Given the description of an element on the screen output the (x, y) to click on. 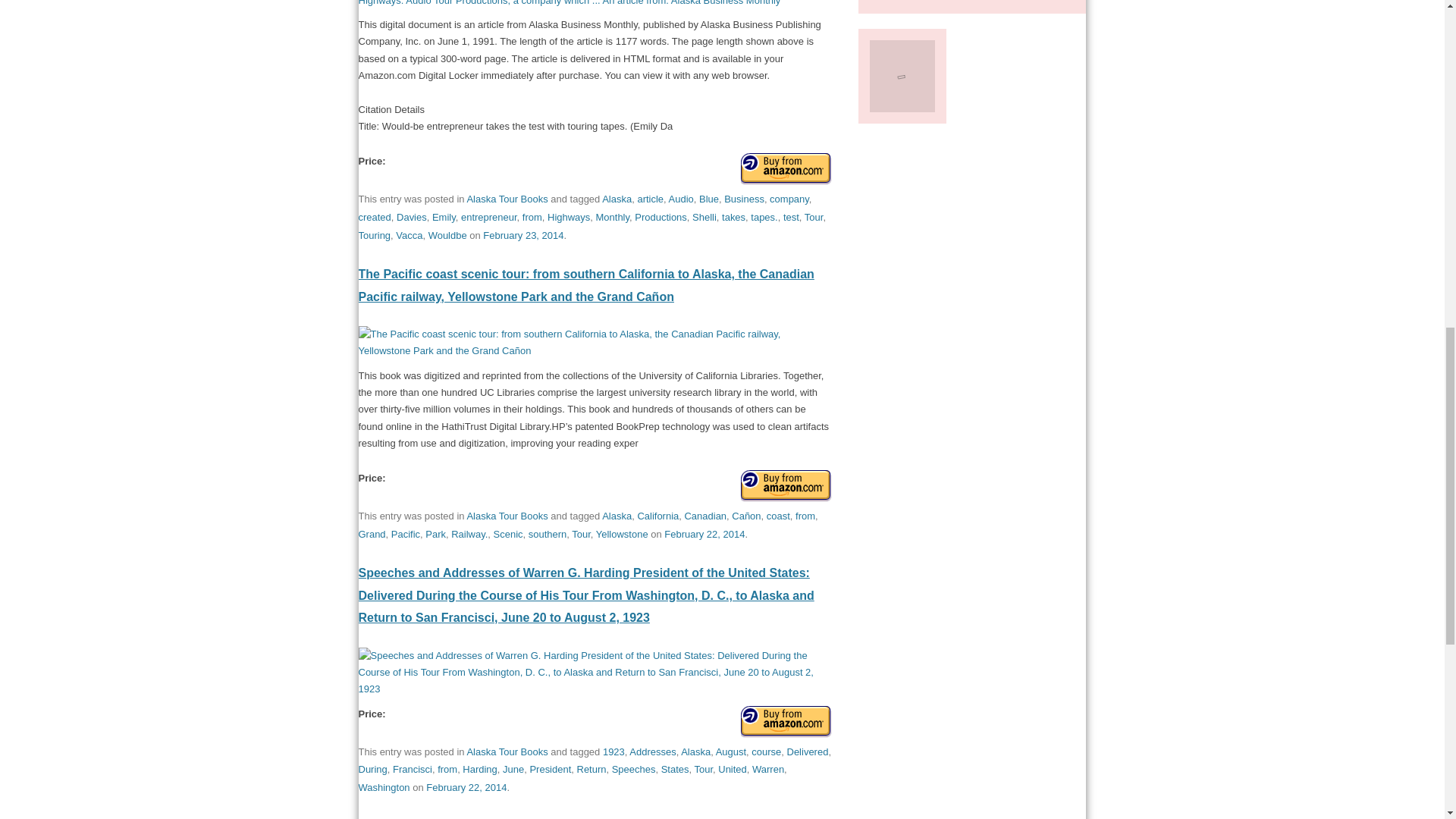
10:03 pm (466, 787)
Alaska (616, 198)
10:48 pm (703, 533)
company (789, 198)
article (650, 198)
Alaska Tour Books (506, 198)
Audio (681, 198)
Blue (708, 198)
5:16 am (523, 235)
Business (743, 198)
